Given the description of an element on the screen output the (x, y) to click on. 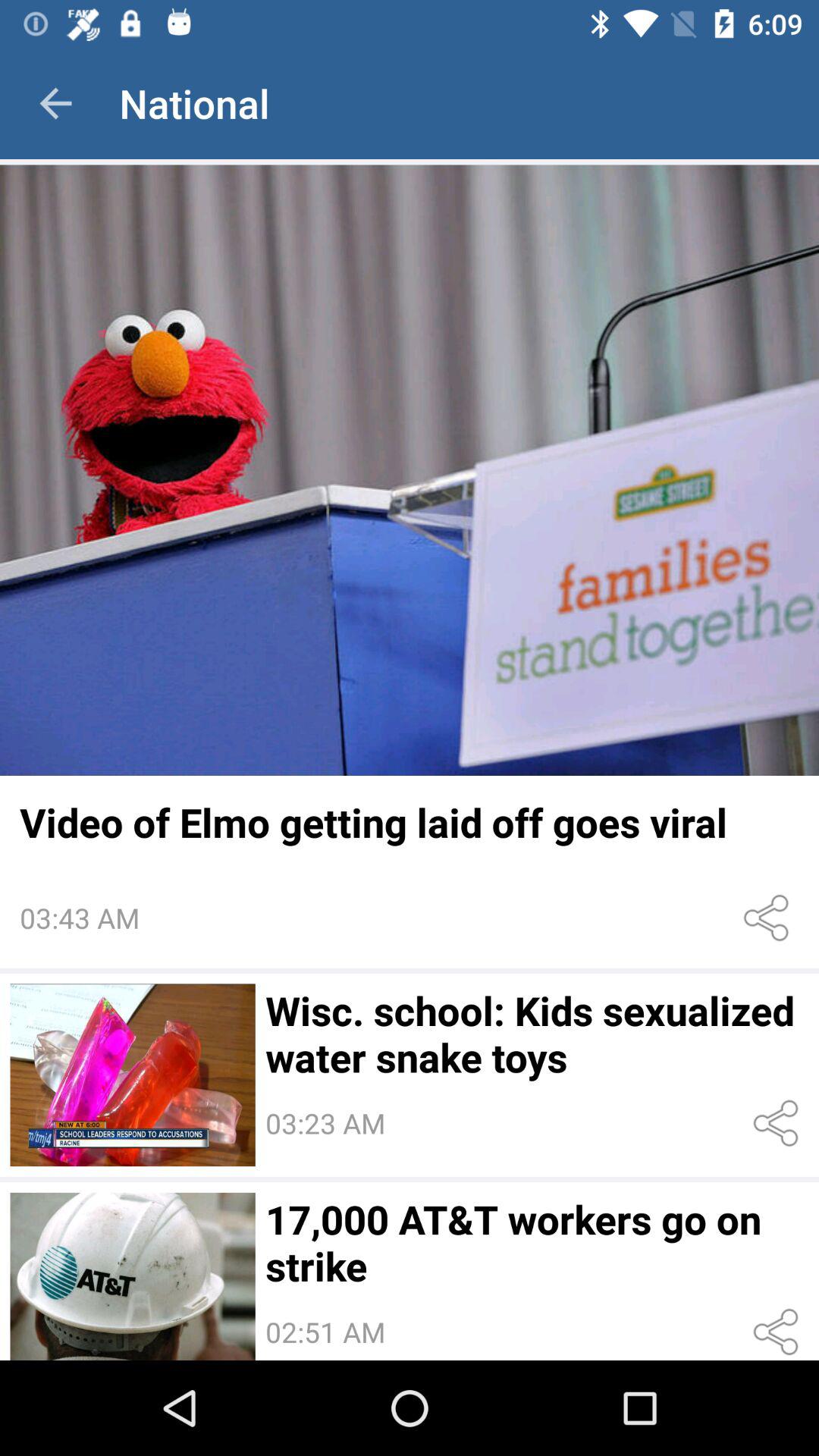
view video (132, 1074)
